Given the description of an element on the screen output the (x, y) to click on. 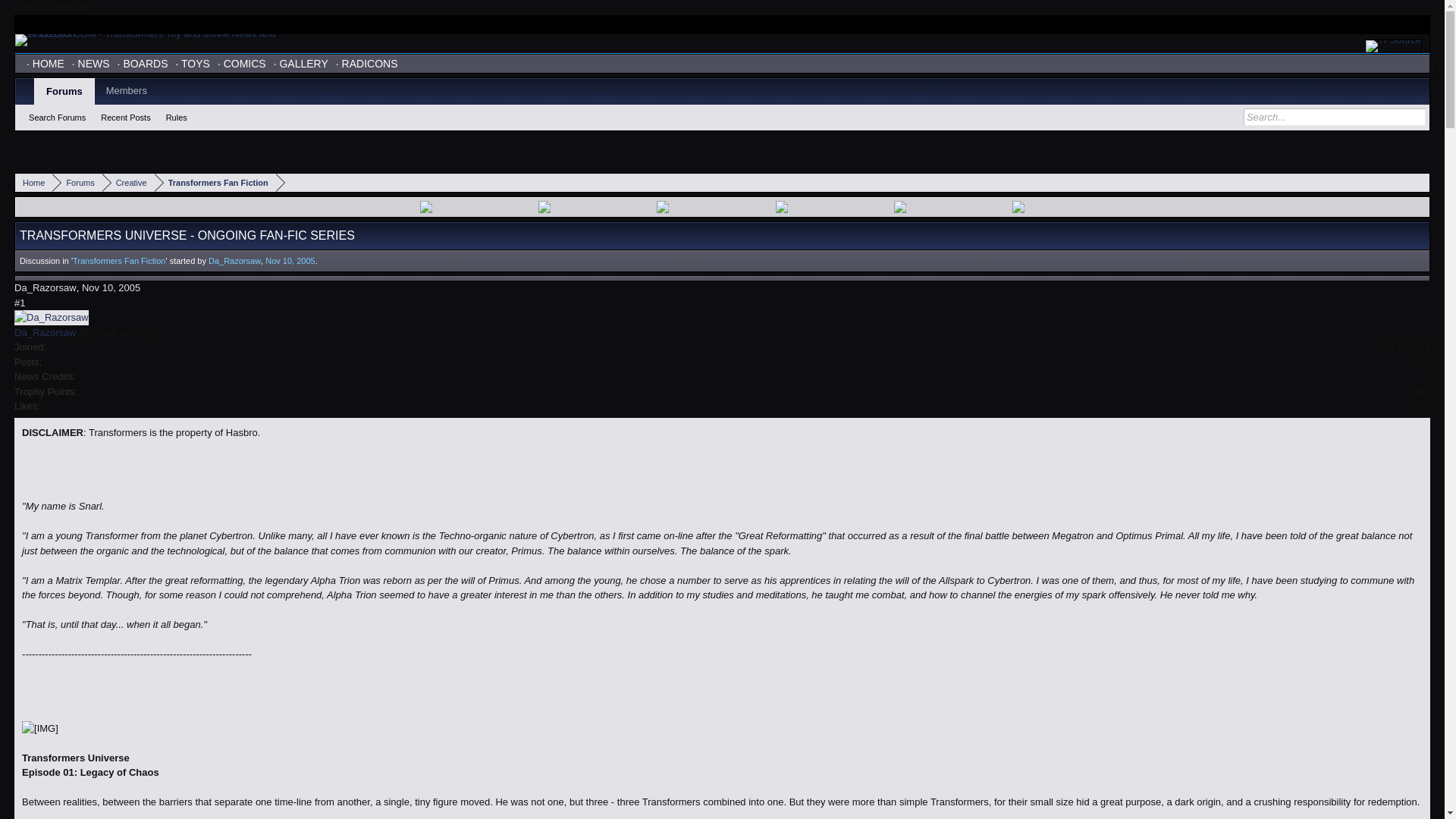
Creative (127, 181)
Nov 10, 2005 at 6:11 AM (289, 260)
Home (33, 181)
Open quick navigation (1420, 182)
Permalink (110, 287)
Forums (76, 181)
Nov 10, 2005 (289, 260)
Transformers Fan Fiction (215, 181)
Log in or Sign up (51, 7)
Permalink (19, 302)
